Given the description of an element on the screen output the (x, y) to click on. 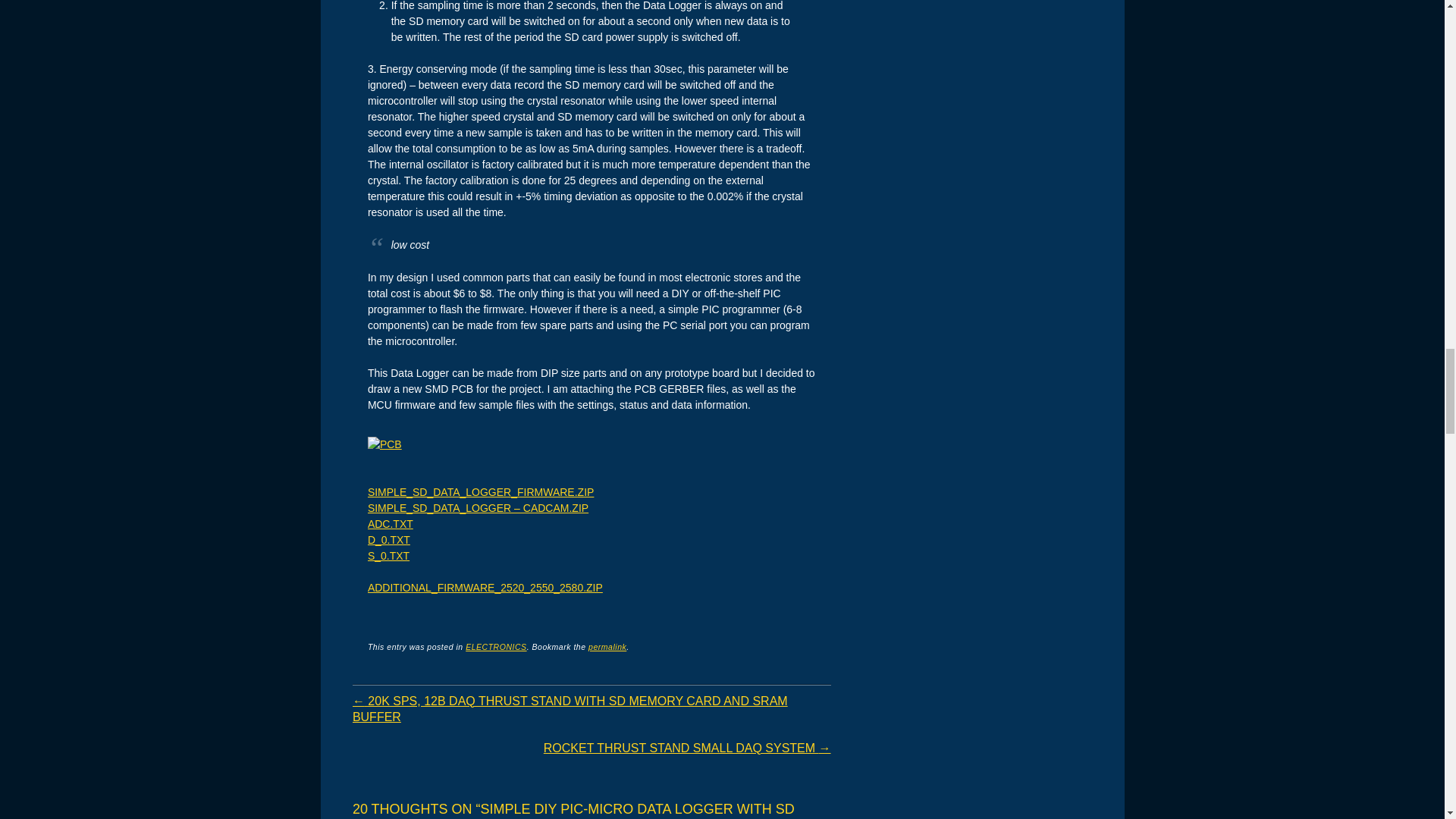
ELECTRONICS (495, 646)
permalink (607, 646)
ADC.TXT (390, 523)
